Given the description of an element on the screen output the (x, y) to click on. 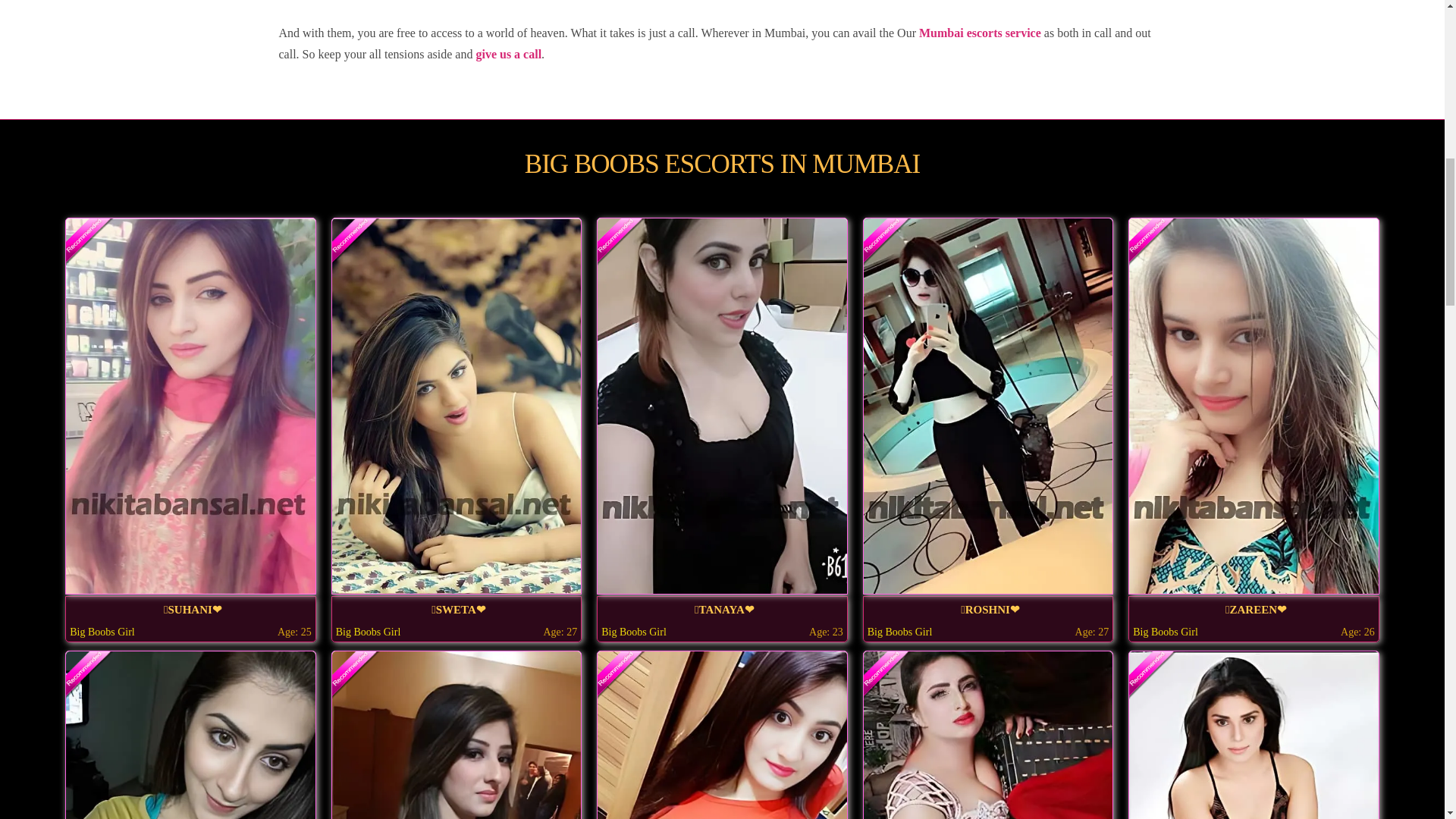
give us a call (508, 53)
Mumbai escorts service (979, 32)
